Given the description of an element on the screen output the (x, y) to click on. 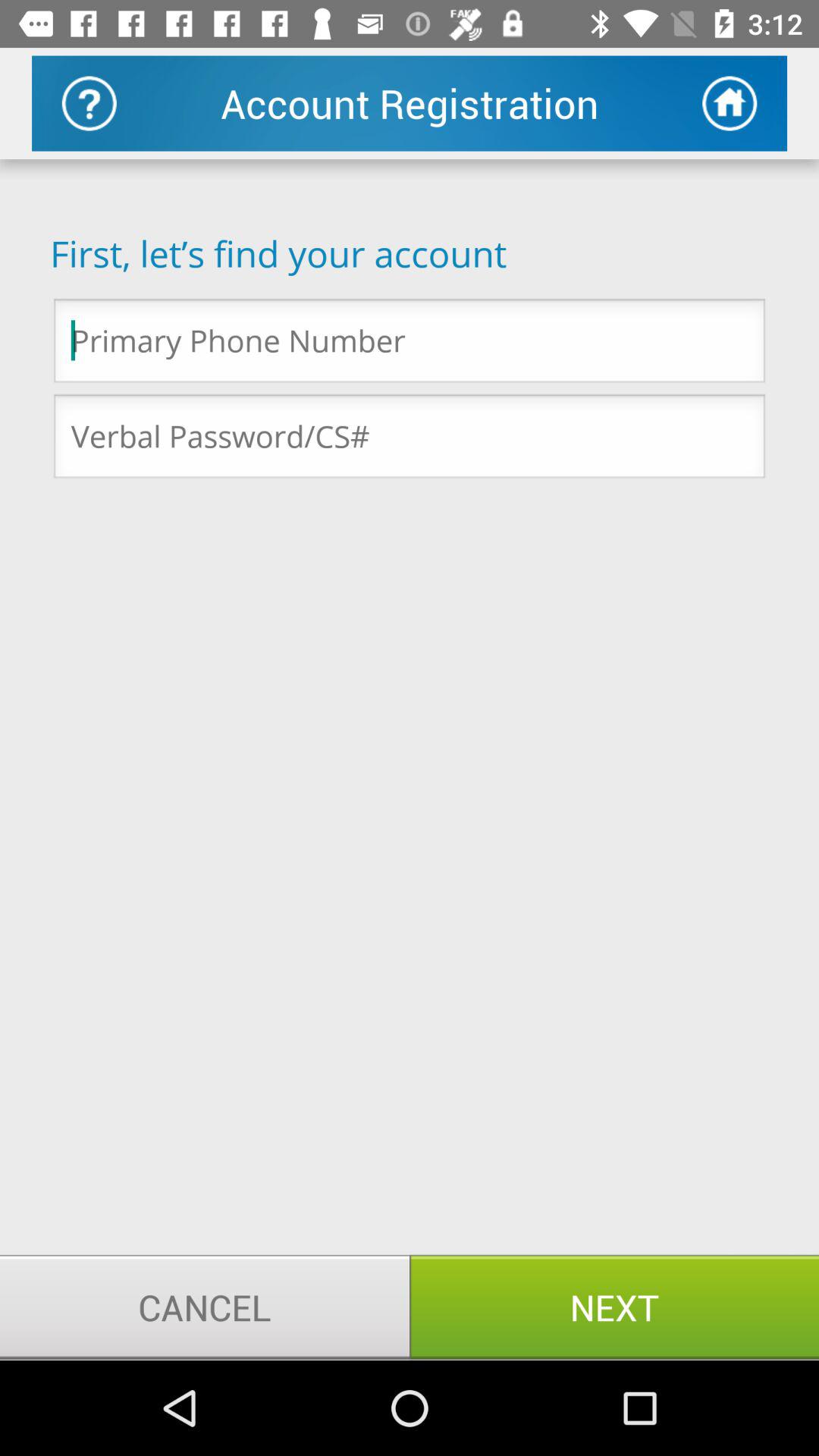
select item to the right of the cancel item (614, 1307)
